Given the description of an element on the screen output the (x, y) to click on. 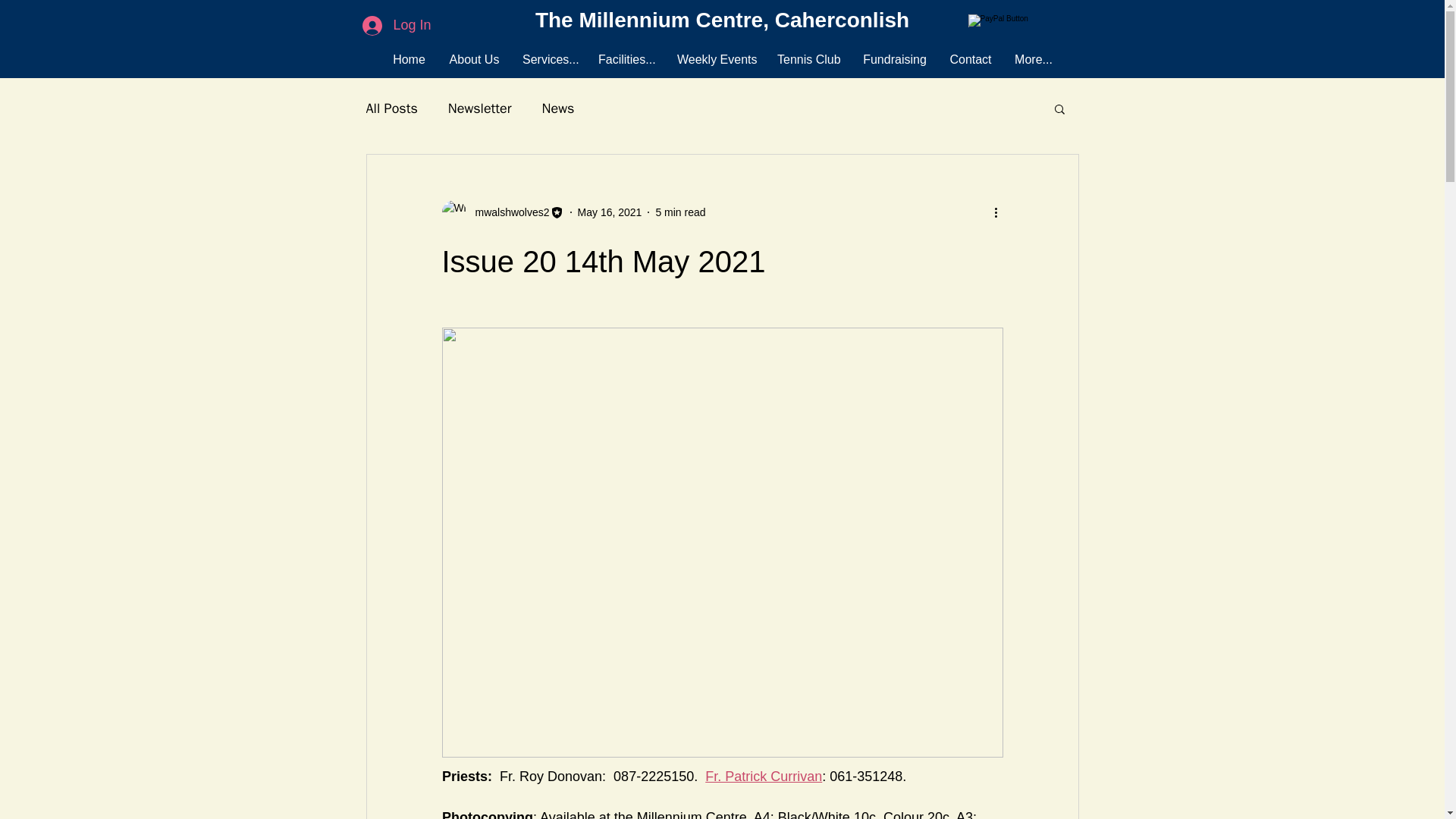
News (558, 108)
Newsletter (480, 108)
mwalshwolves2 (502, 211)
Fr. Patrick Currivan (763, 776)
Log In (396, 24)
Tennis Club (808, 58)
Facilities... (625, 58)
Services... (548, 58)
About Us (474, 58)
Home (409, 58)
